Given the description of an element on the screen output the (x, y) to click on. 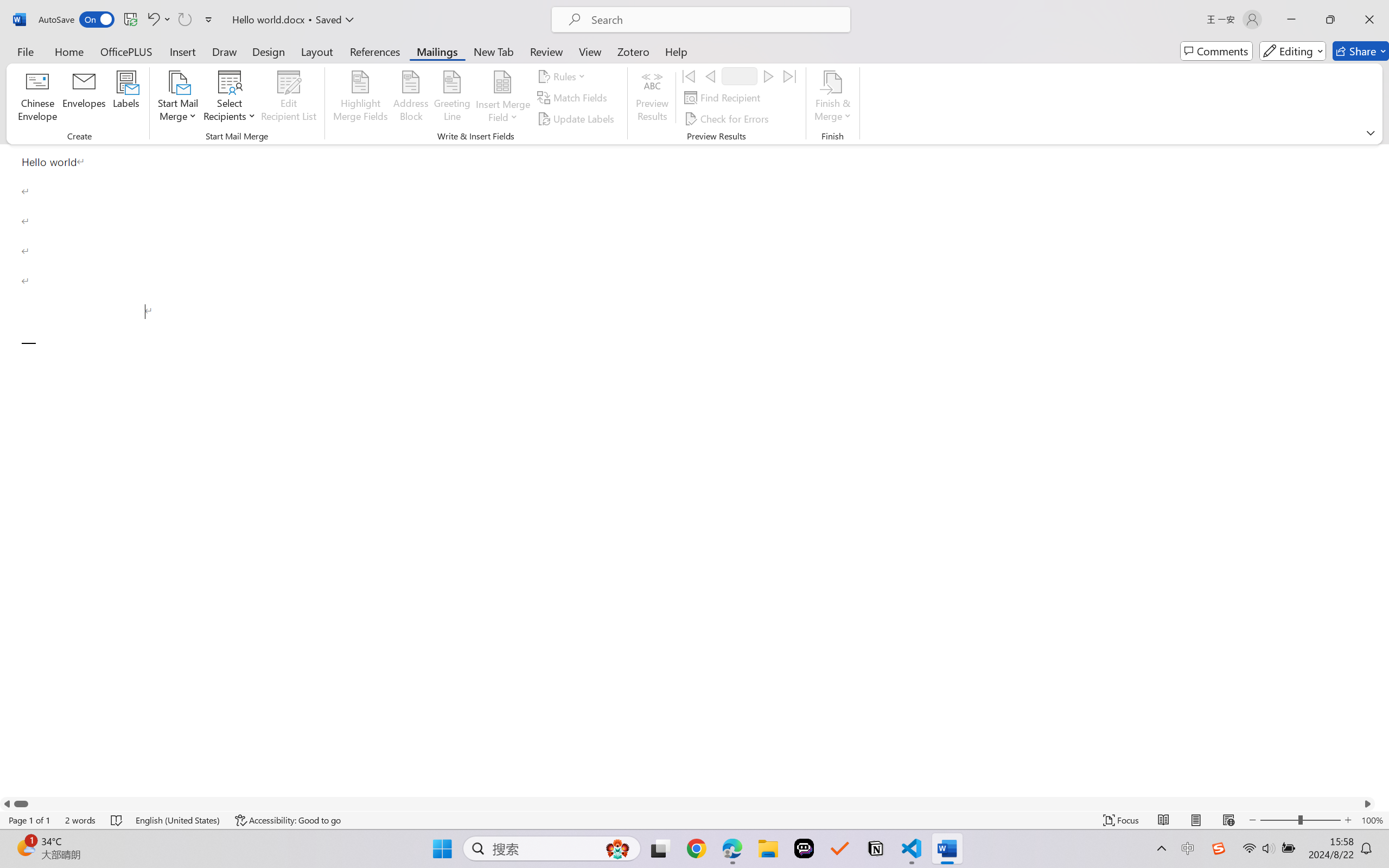
Undo Paragraph Formatting (158, 19)
Rules (563, 75)
AutomationID: DynamicSearchBoxGleamImage (617, 848)
Class: Image (1218, 847)
Language English (United States) (178, 819)
Update Labels (576, 118)
Zoom In (1348, 819)
Print Layout (1196, 819)
Draw (224, 51)
Last (790, 75)
References (375, 51)
Help (675, 51)
Check for Errors... (728, 118)
Web Layout (1228, 819)
Zoom 100% (1372, 819)
